Given the description of an element on the screen output the (x, y) to click on. 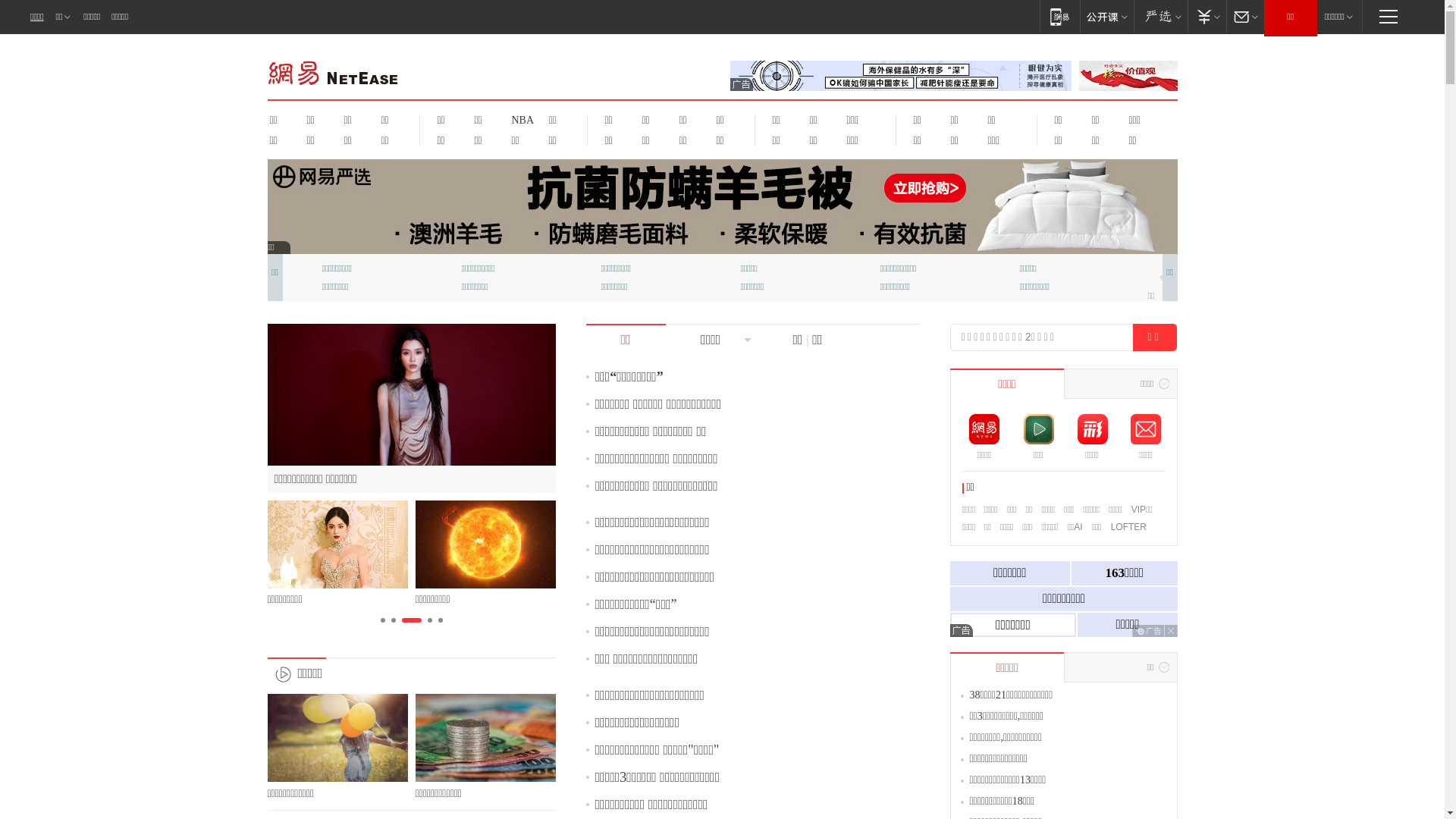
LOFTER Element type: text (1128, 526)
NBA Element type: text (520, 119)
